Given the description of an element on the screen output the (x, y) to click on. 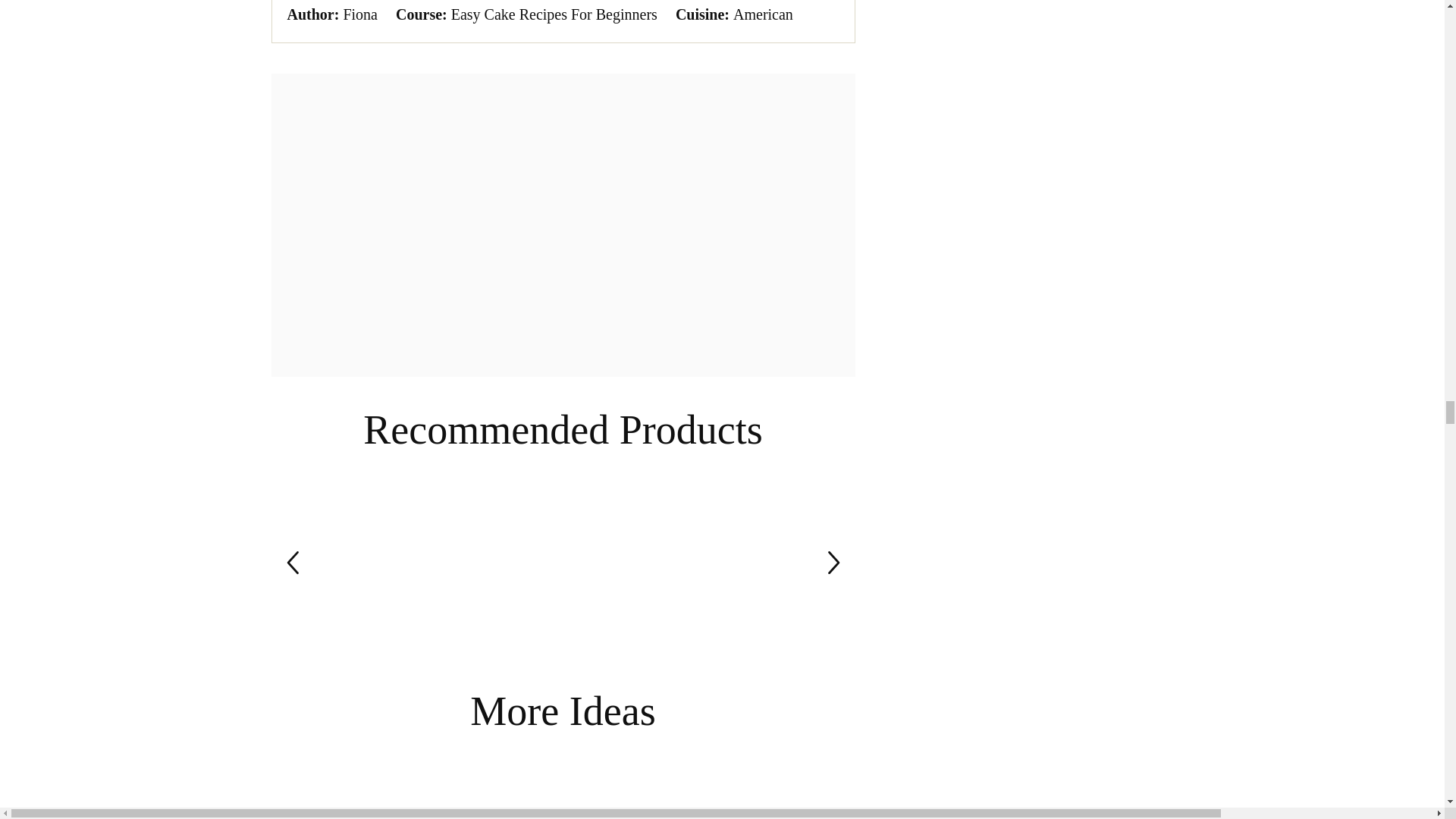
Previous (293, 562)
Next (832, 562)
